Given the description of an element on the screen output the (x, y) to click on. 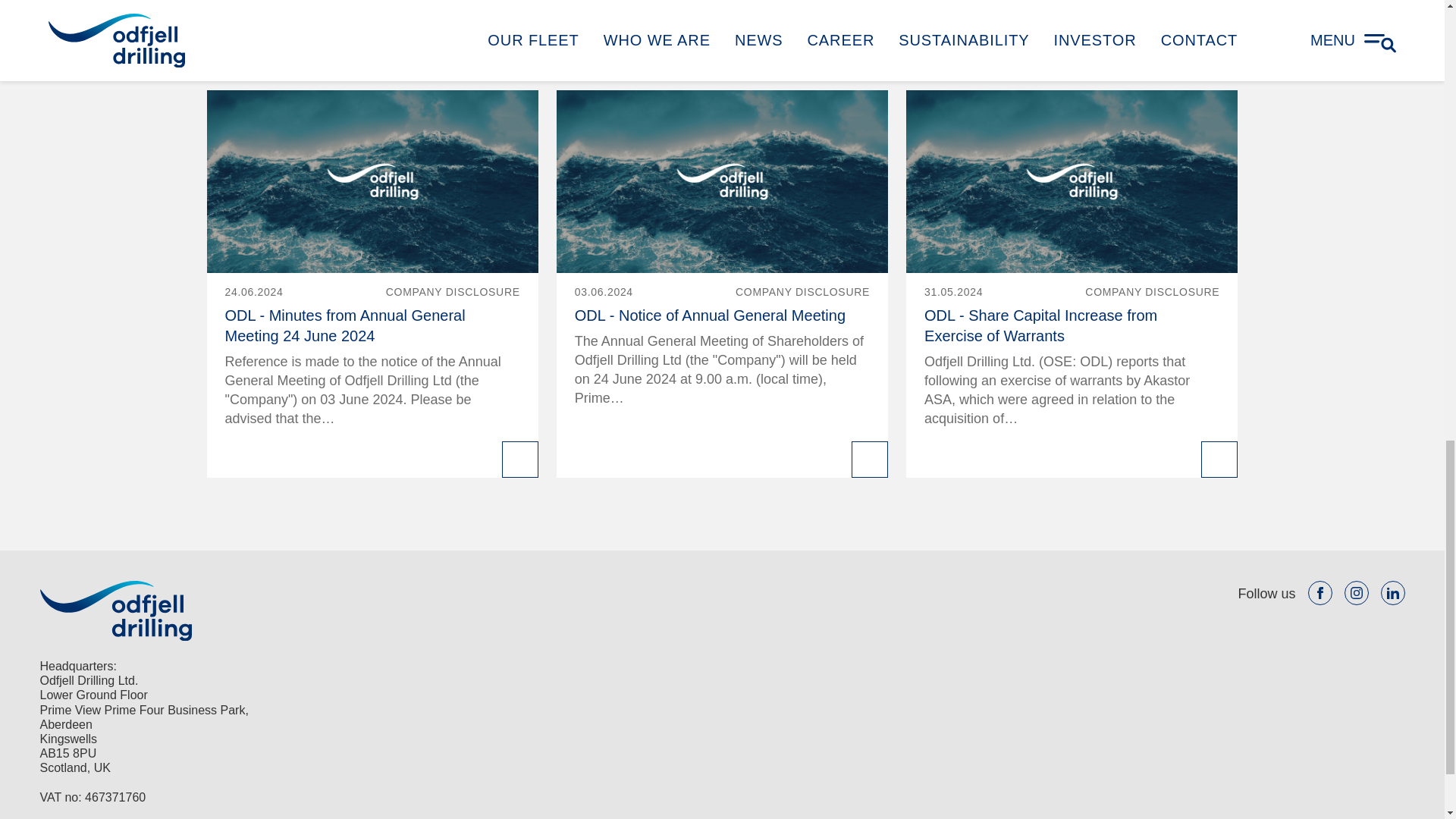
Go to front page (114, 610)
